Given the description of an element on the screen output the (x, y) to click on. 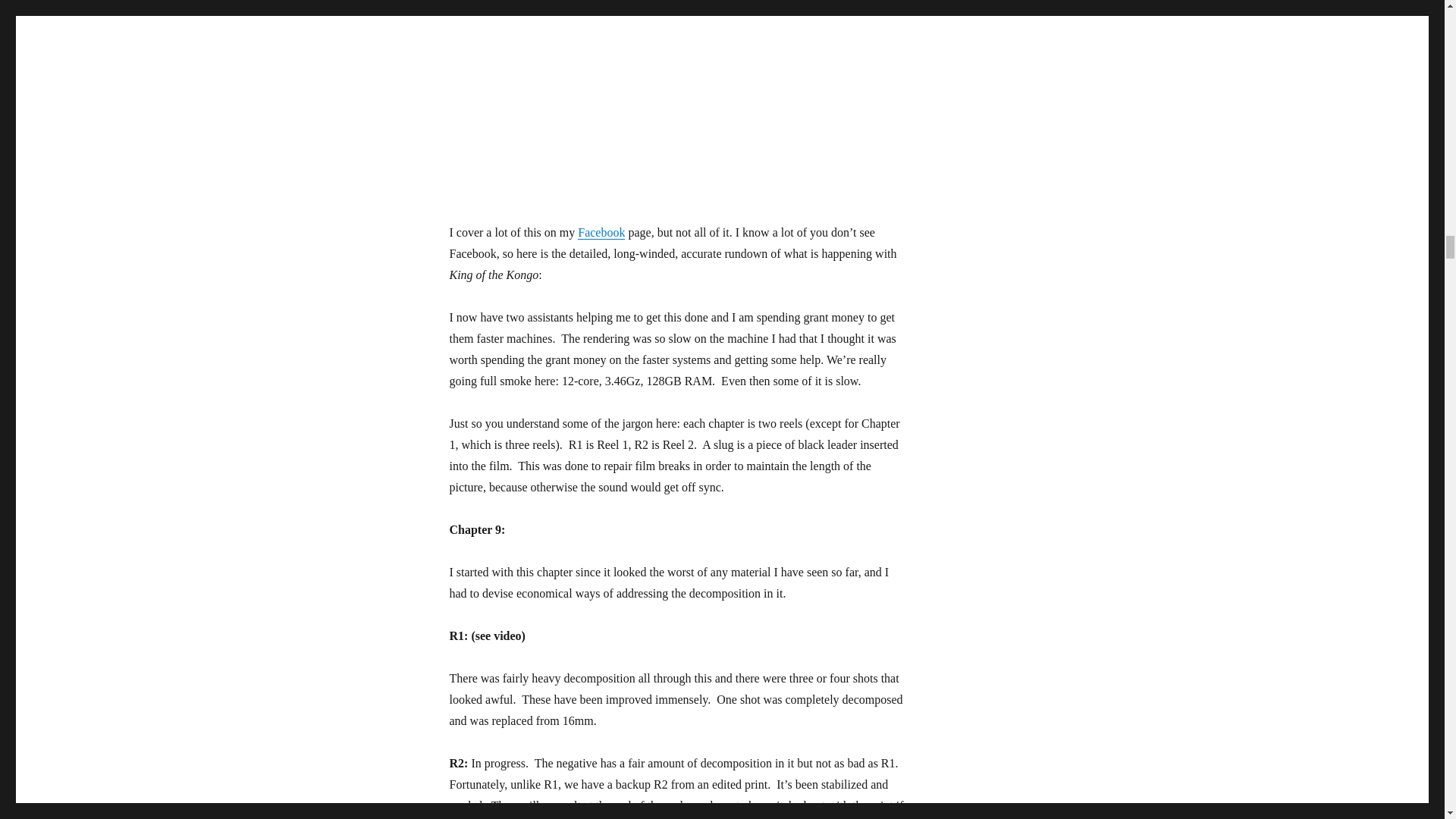
Facebook (601, 232)
